Given the description of an element on the screen output the (x, y) to click on. 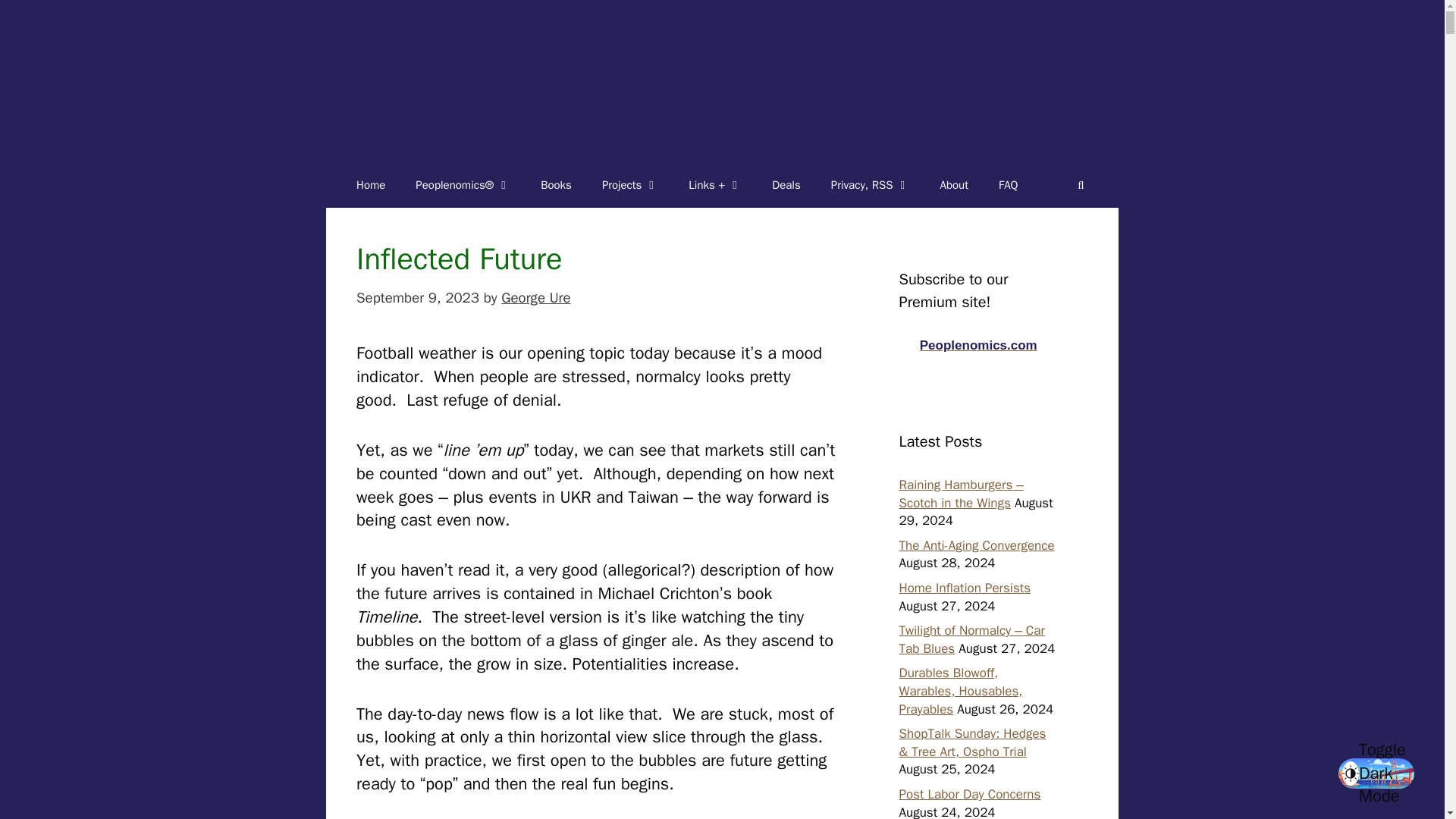
Books (555, 185)
Projects (629, 185)
type: generatepress (370, 185)
View all posts by George Ure (535, 298)
Home (370, 185)
